Given the description of an element on the screen output the (x, y) to click on. 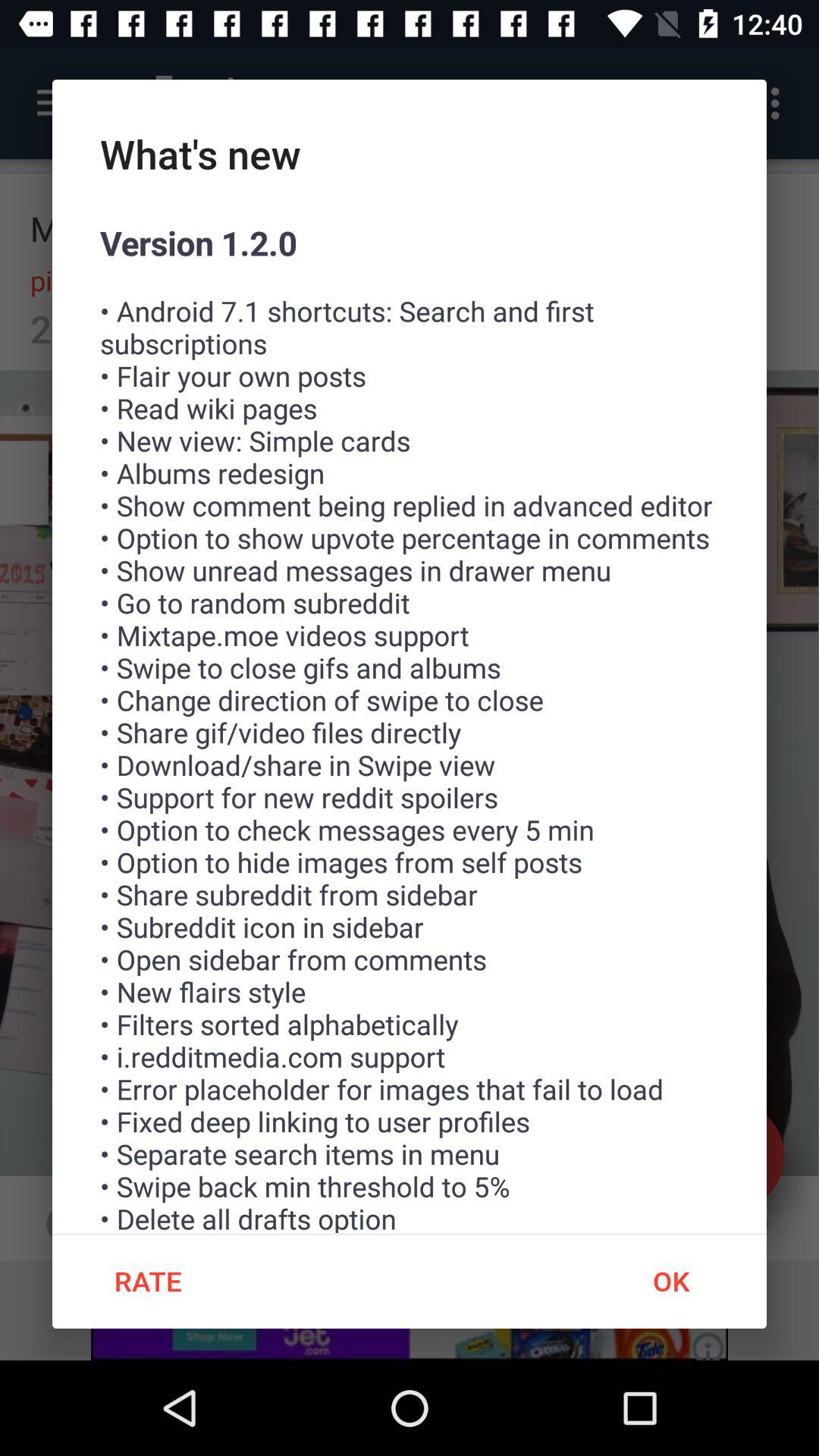
launch rate icon (147, 1280)
